Given the description of an element on the screen output the (x, y) to click on. 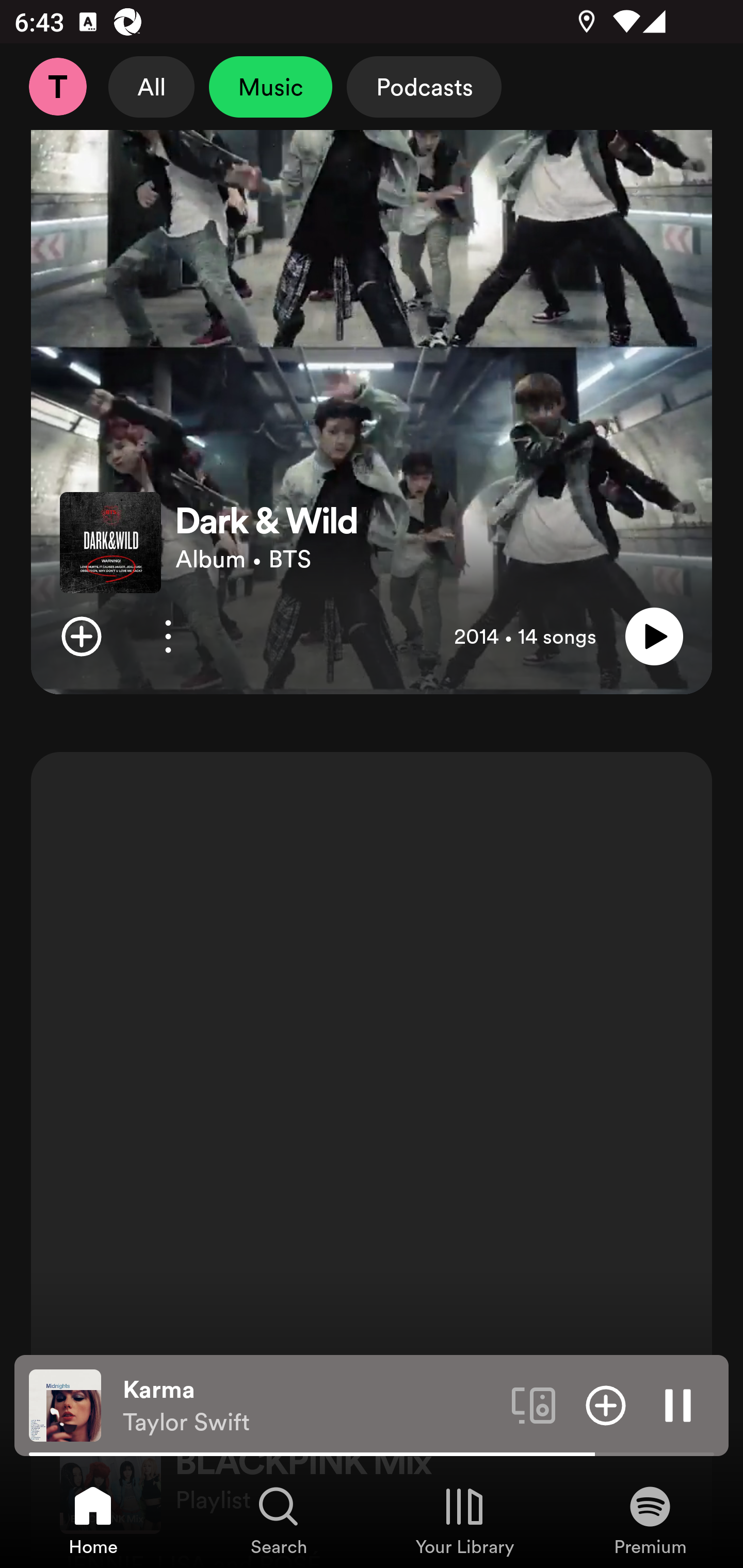
Profile (57, 86)
All Select All (151, 86)
Music Unselect Music (270, 86)
Podcasts Select Podcasts (423, 86)
Add item (80, 636)
Play (653, 636)
Karma Taylor Swift (309, 1405)
The cover art of the currently playing track (64, 1404)
Connect to a device. Opens the devices menu (533, 1404)
Add item (605, 1404)
Pause (677, 1404)
Home, Tab 1 of 4 Home Home (92, 1519)
Search, Tab 2 of 4 Search Search (278, 1519)
Your Library, Tab 3 of 4 Your Library Your Library (464, 1519)
Premium, Tab 4 of 4 Premium Premium (650, 1519)
